Given the description of an element on the screen output the (x, y) to click on. 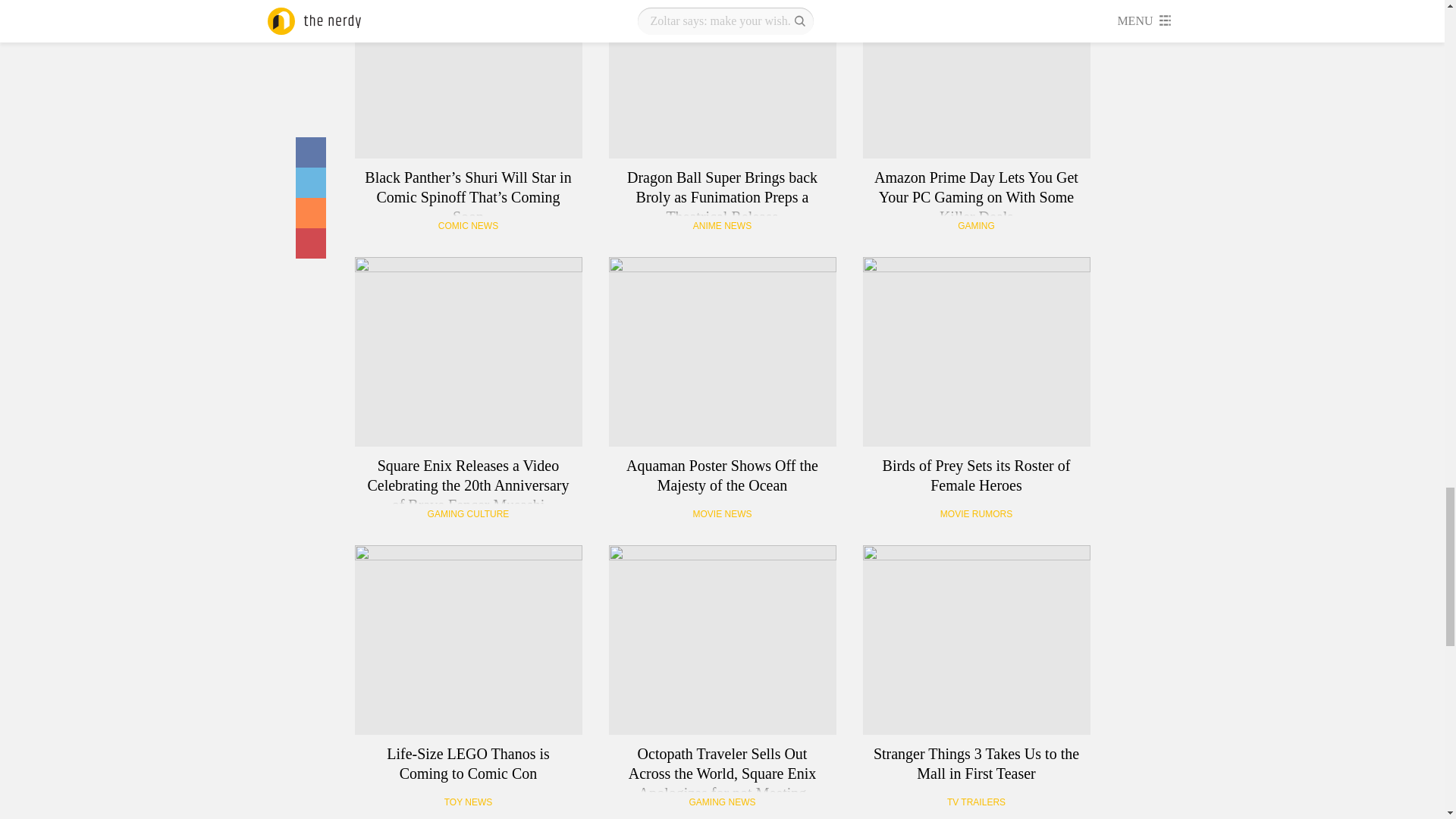
Aquaman Poster Shows Off the Majesty of the Ocean (721, 351)
Life-Size LEGO Thanos is Coming to Comic Con (468, 639)
Birds of Prey Sets its Roster of Female Heroes (976, 351)
Stranger Things 3 Takes Us to the Mall in First Teaser (976, 639)
